Given the description of an element on the screen output the (x, y) to click on. 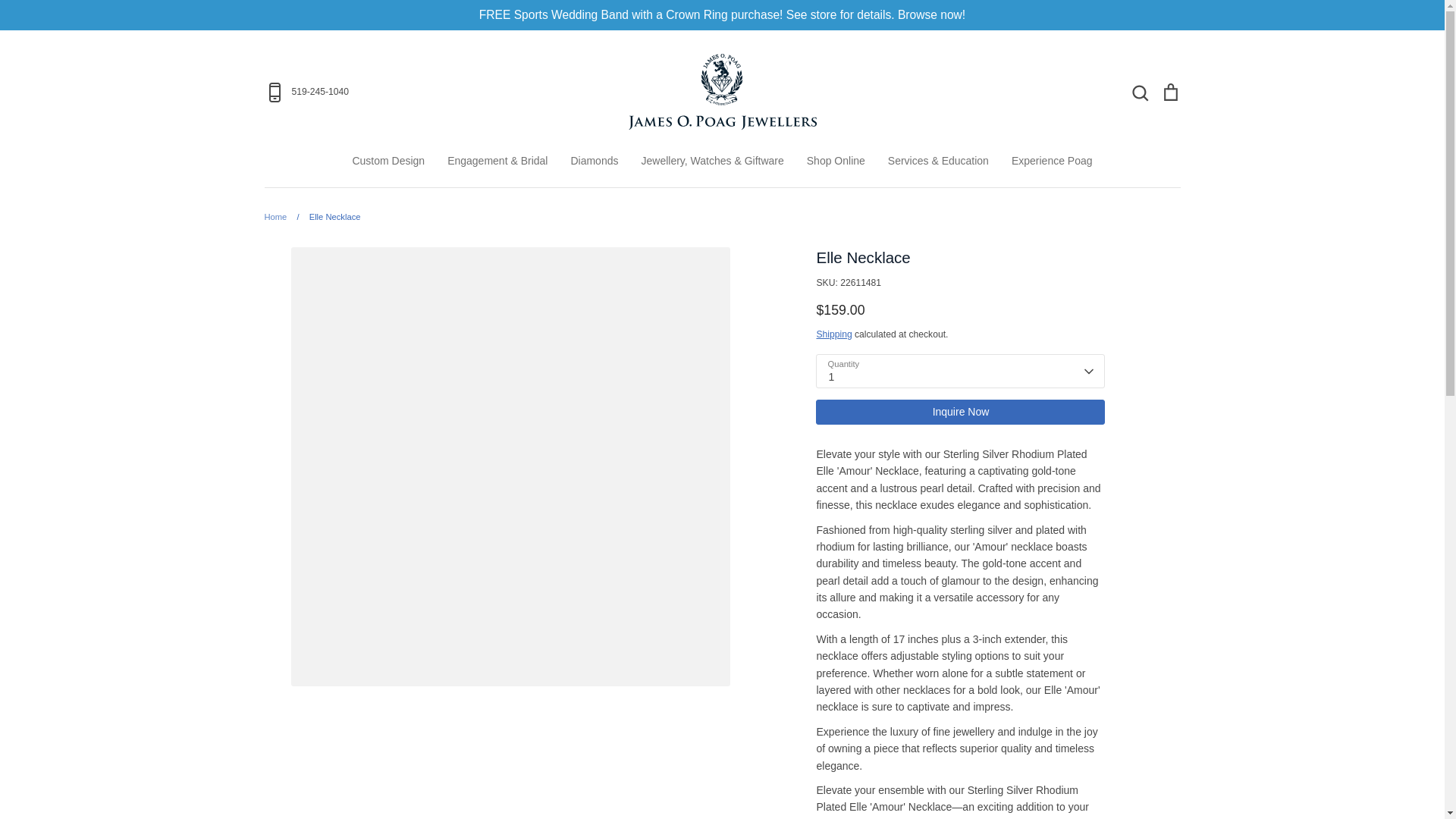
Search (1139, 91)
519-245-1040 (414, 92)
Cart (1169, 91)
Custom Design (388, 160)
Diamonds (593, 160)
